Given the description of an element on the screen output the (x, y) to click on. 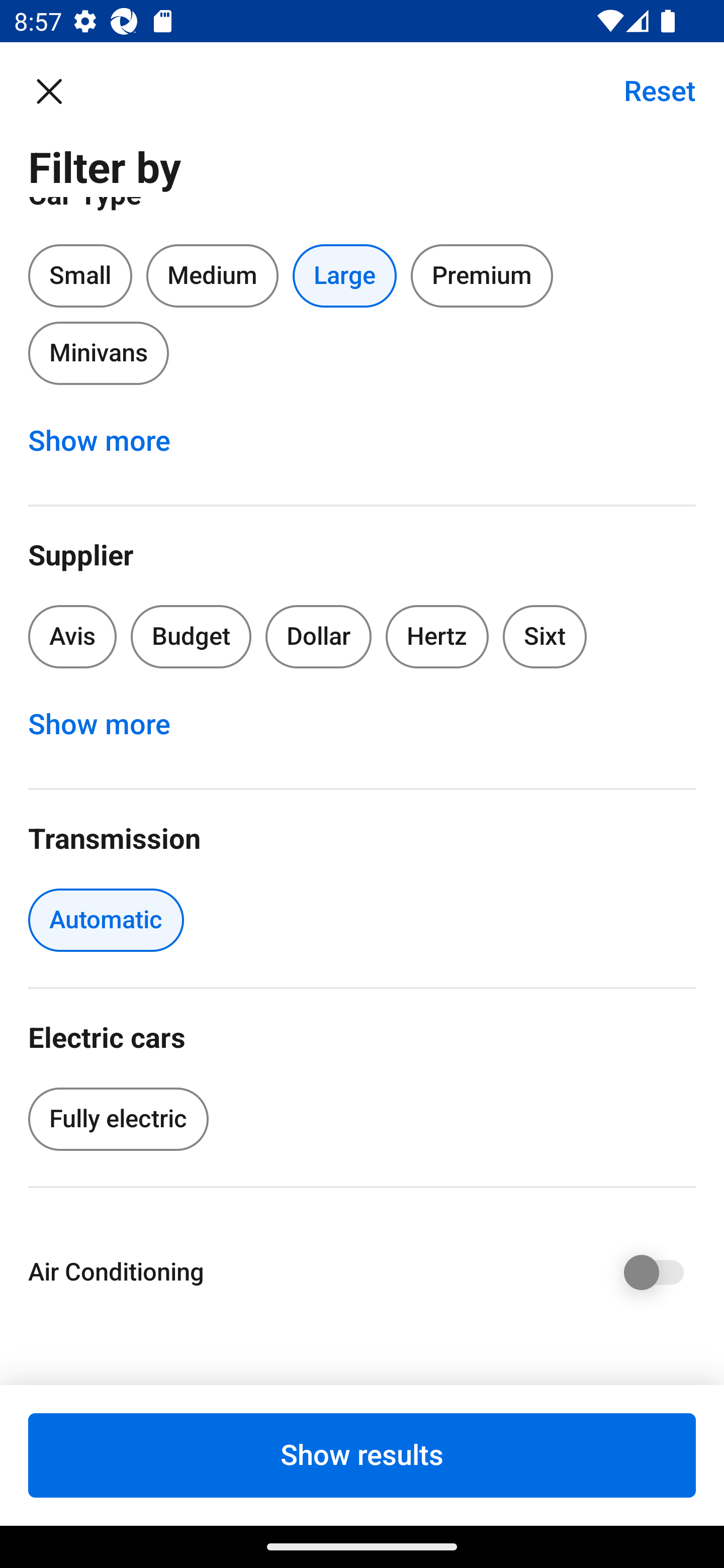
Close (59, 90)
Reset (649, 90)
Small (80, 275)
Medium (212, 275)
Premium (482, 275)
Minivans (98, 352)
Show more (109, 440)
Avis (72, 636)
Budget (191, 636)
Dollar (318, 636)
Hertz (437, 636)
Sixt (544, 636)
Show more (109, 724)
Fully electric (118, 1119)
Air Conditioning (361, 1271)
Show results (361, 1454)
